Given the description of an element on the screen output the (x, y) to click on. 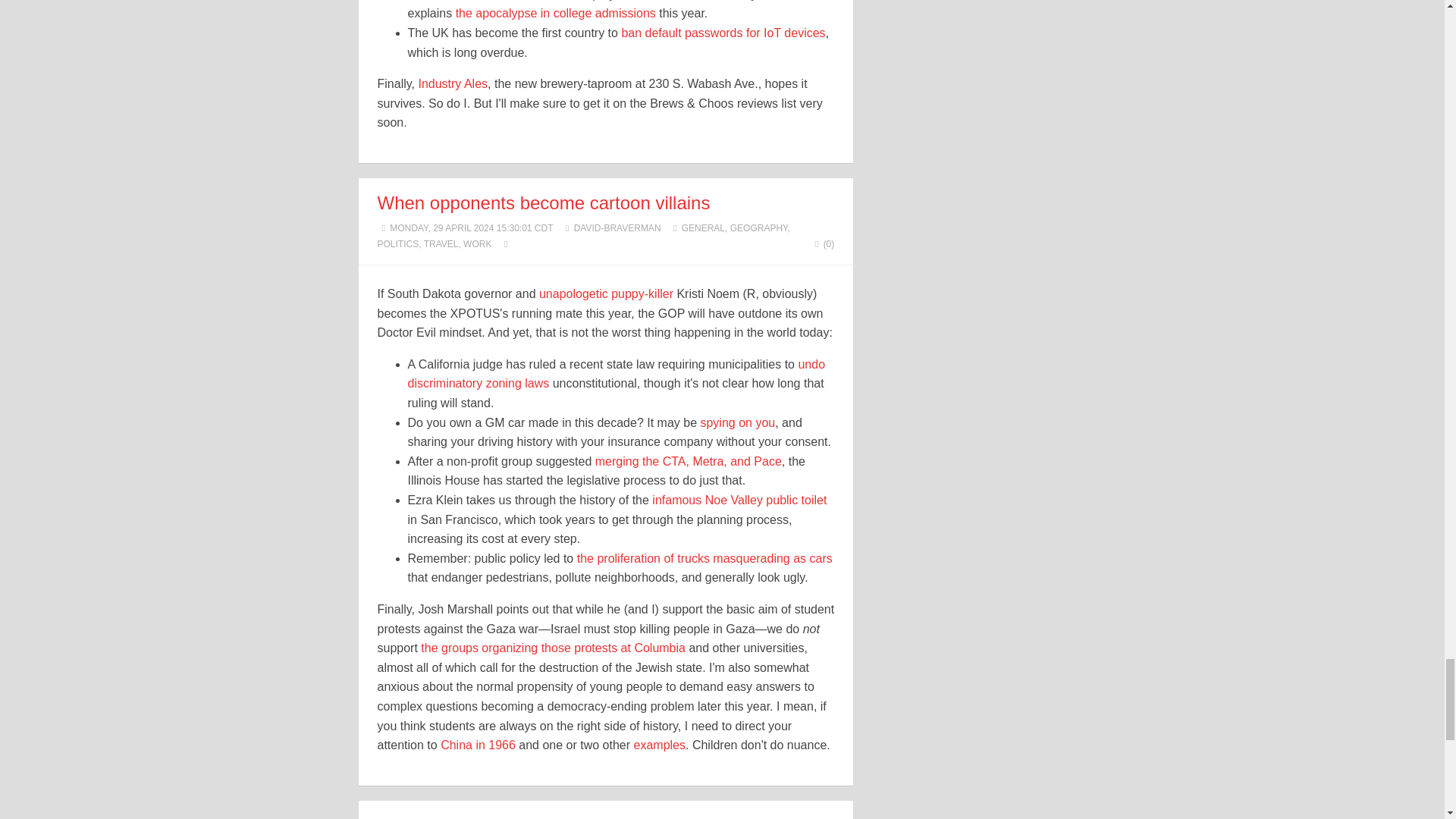
Open a map of the location where this post was written (505, 244)
